Given the description of an element on the screen output the (x, y) to click on. 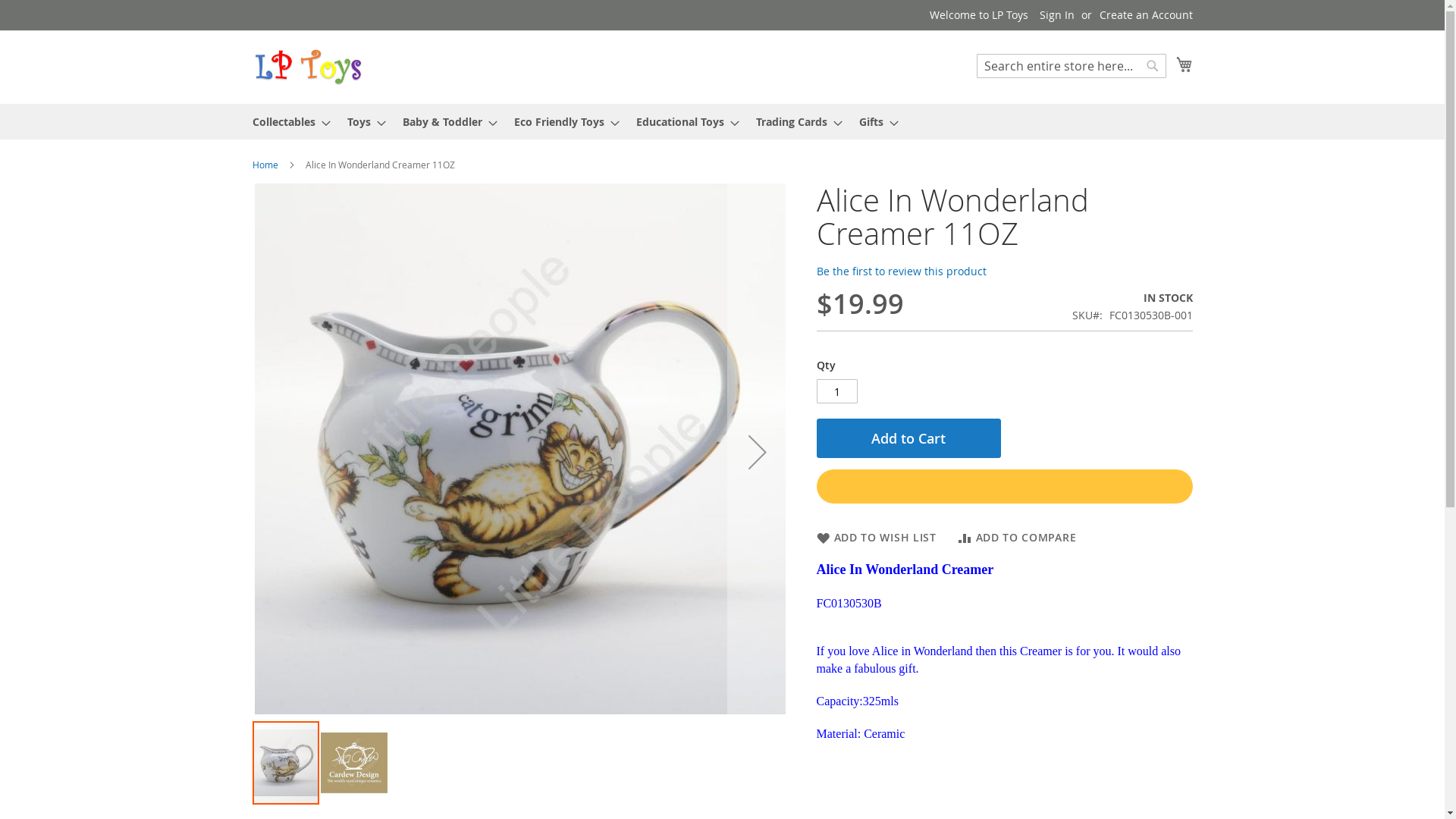
Educational Toys Element type: text (682, 121)
LP Toys Element type: hover (307, 65)
Gifts Element type: text (873, 121)
Baby & Toddler Element type: text (444, 121)
Skip to Content Element type: text (251, 6)
Add to Cart Element type: text (907, 438)
Eco Friendly Toys Element type: text (562, 121)
Skip to the end of the images gallery Element type: text (251, 182)
Toys Element type: text (361, 121)
Create an Account Element type: text (1145, 14)
Trading Cards Element type: text (793, 121)
Sign In Element type: text (1055, 14)
Home Element type: text (264, 164)
My Cart Element type: text (1183, 64)
ADD TO WISH LIST Element type: text (875, 537)
Collectables Element type: text (285, 121)
Qty Element type: hover (835, 391)
Be the first to review this product Element type: text (900, 270)
Search Element type: text (1152, 65)
PayPal Element type: hover (1003, 486)
ADD TO COMPARE Element type: text (1017, 537)
Skip to the beginning of the images gallery Element type: text (251, 805)
